Given the description of an element on the screen output the (x, y) to click on. 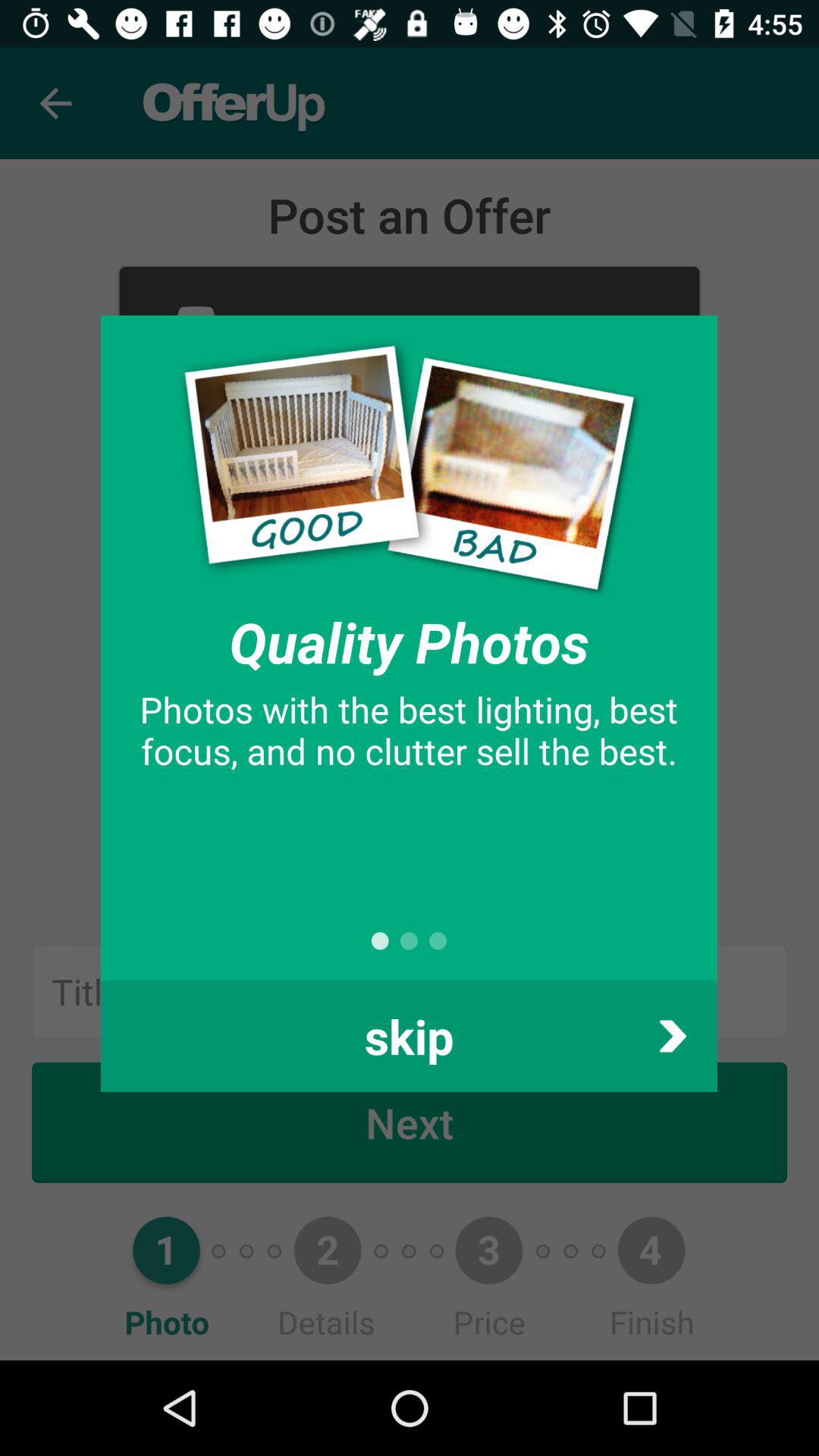
choose the skip item (408, 1036)
